Given the description of an element on the screen output the (x, y) to click on. 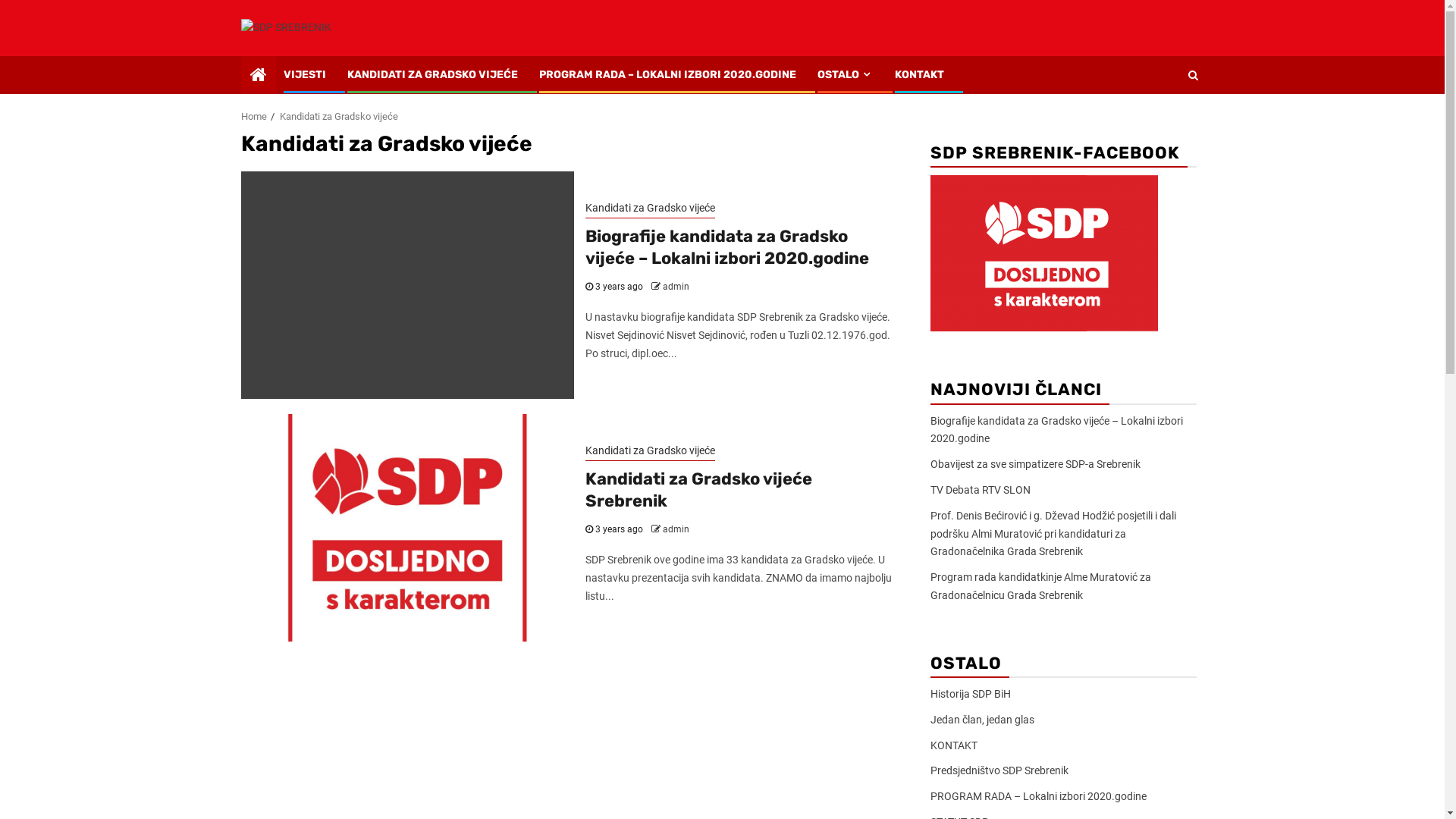
Home Element type: text (253, 116)
Obavijest za sve simpatizere SDP-a Srebrenik Element type: text (1034, 464)
Historija SDP BiH Element type: text (969, 693)
TV Debata RTV SLON Element type: text (979, 489)
admin Element type: text (675, 529)
KONTAKT Element type: text (919, 74)
OSTALO Element type: text (845, 74)
Search Element type: text (1163, 120)
KONTAKT Element type: text (952, 745)
Search Element type: hover (1192, 74)
admin Element type: text (675, 286)
VIJESTI Element type: text (304, 74)
